Given the description of an element on the screen output the (x, y) to click on. 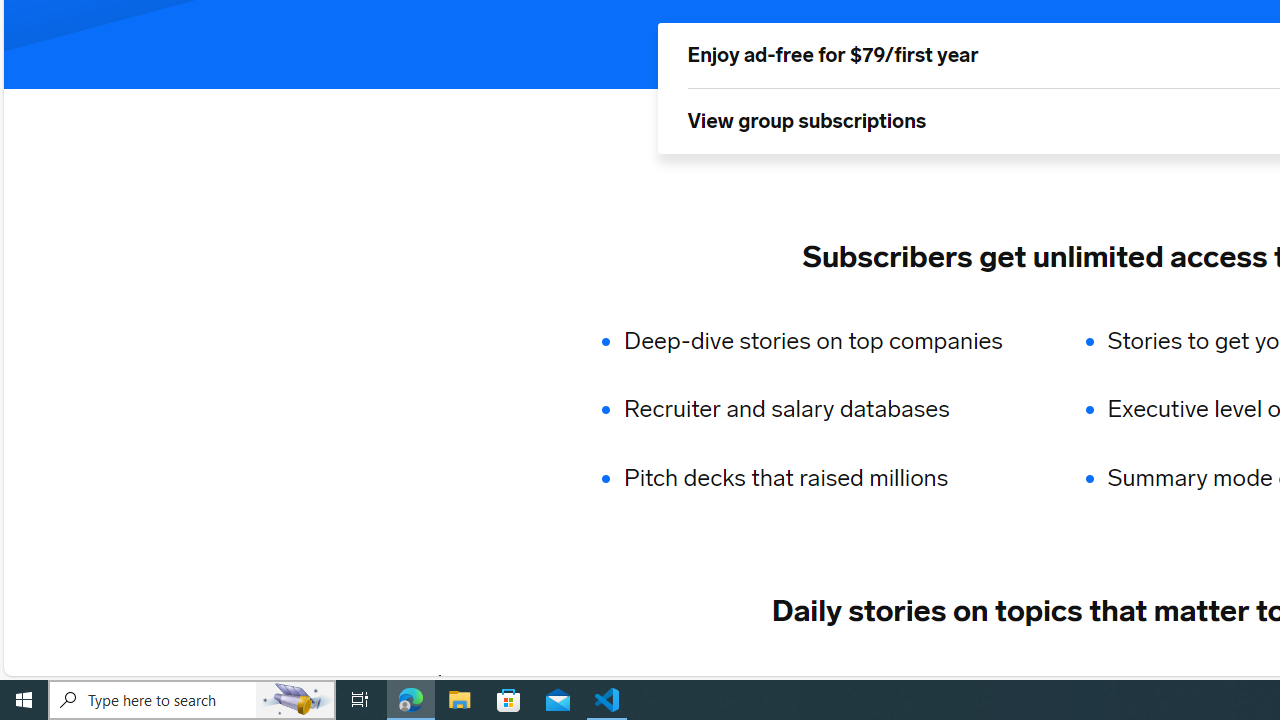
Recruiter and salary databases (825, 409)
RETAIL (744, 681)
FINANCE (853, 681)
TECH (492, 681)
HEALTHCARE (1195, 681)
ADVERTISING (615, 681)
PERSONAL FINANCE (1016, 681)
Deep-dive stories on top companies (825, 340)
Pitch decks that raised millions (825, 478)
